Given the description of an element on the screen output the (x, y) to click on. 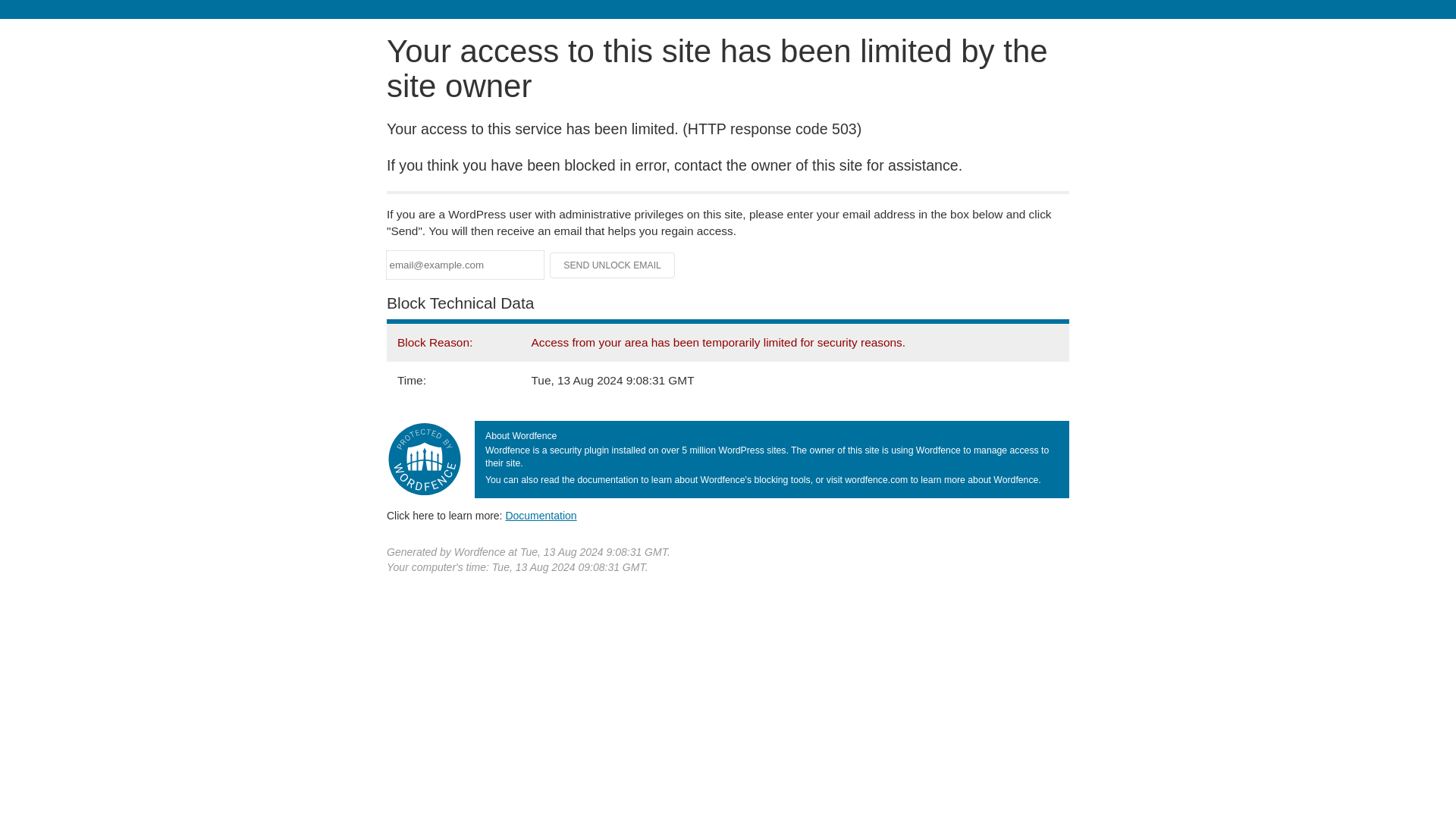
Documentation (540, 515)
Send Unlock Email (612, 265)
Send Unlock Email (612, 265)
